Given the description of an element on the screen output the (x, y) to click on. 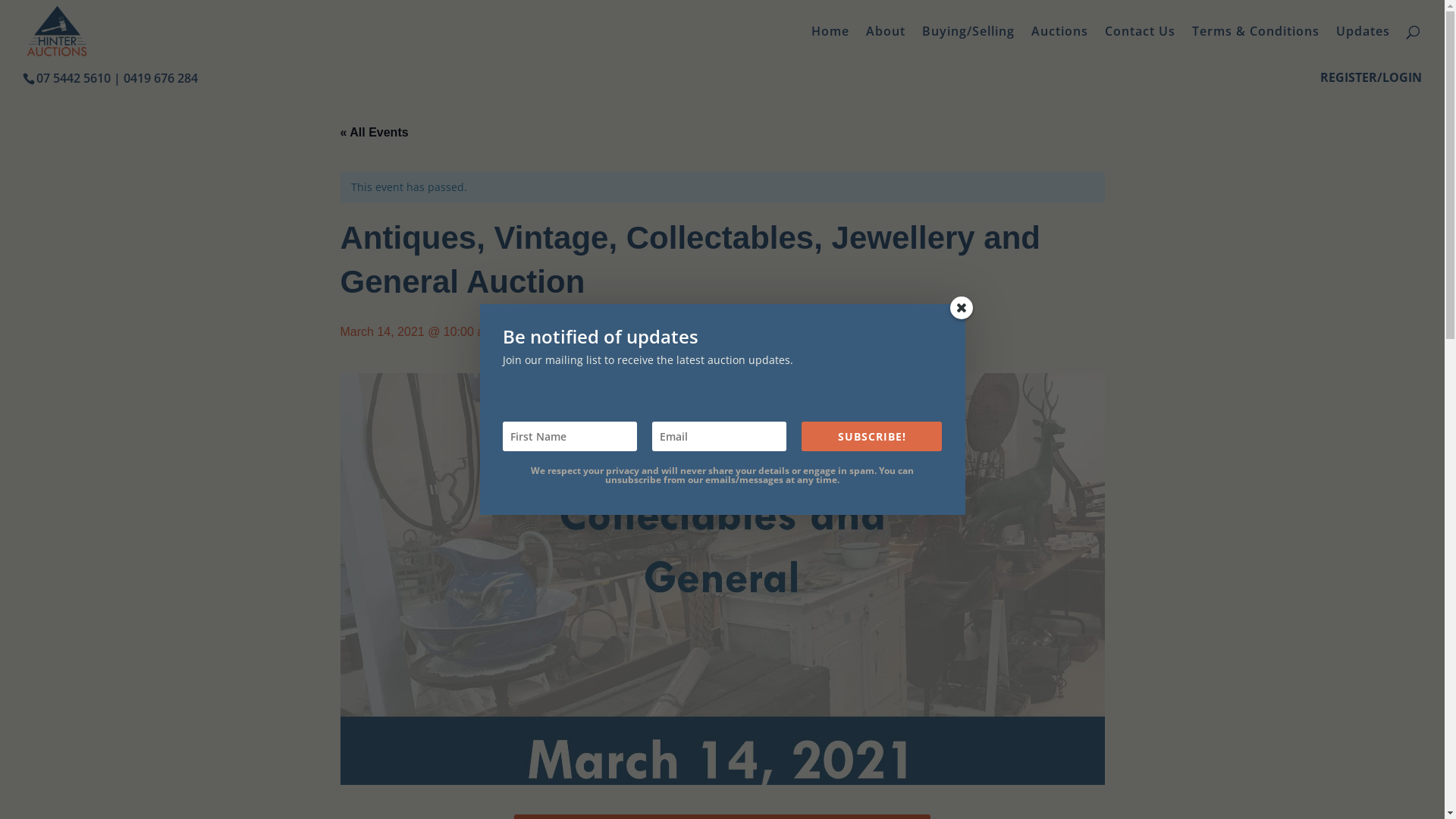
REGISTER/LOGIN Element type: text (1370, 81)
Buying/Selling Element type: text (968, 43)
About Element type: text (885, 43)
Contact Us Element type: text (1139, 43)
Home Element type: text (830, 43)
SUBSCRIBE! Element type: text (871, 436)
Updates Element type: text (1363, 43)
Auctions Element type: text (1059, 43)
Terms & Conditions Element type: text (1255, 43)
